Given the description of an element on the screen output the (x, y) to click on. 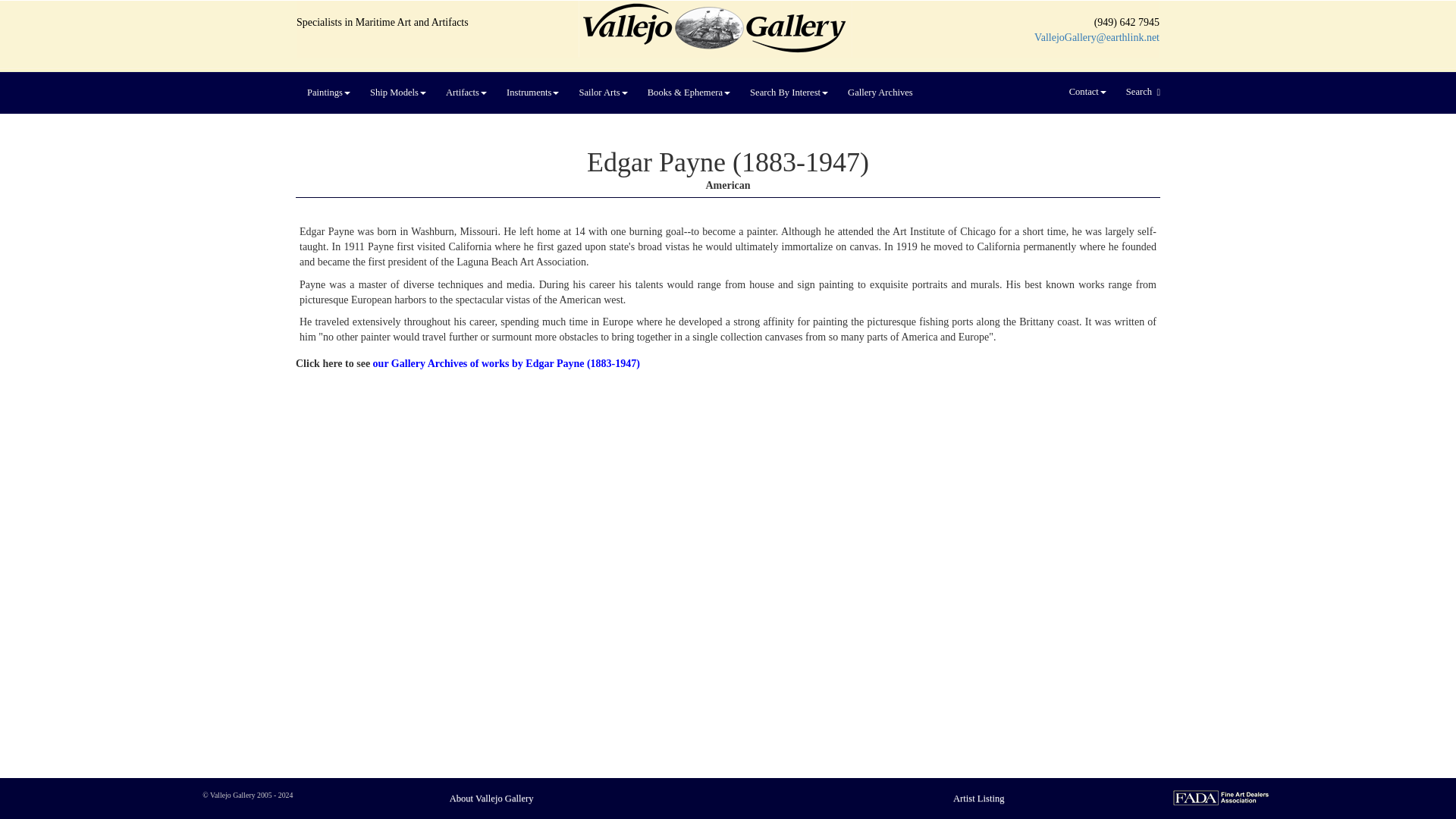
Ship Models (397, 92)
Paintings (328, 92)
Artifacts (465, 92)
